Given the description of an element on the screen output the (x, y) to click on. 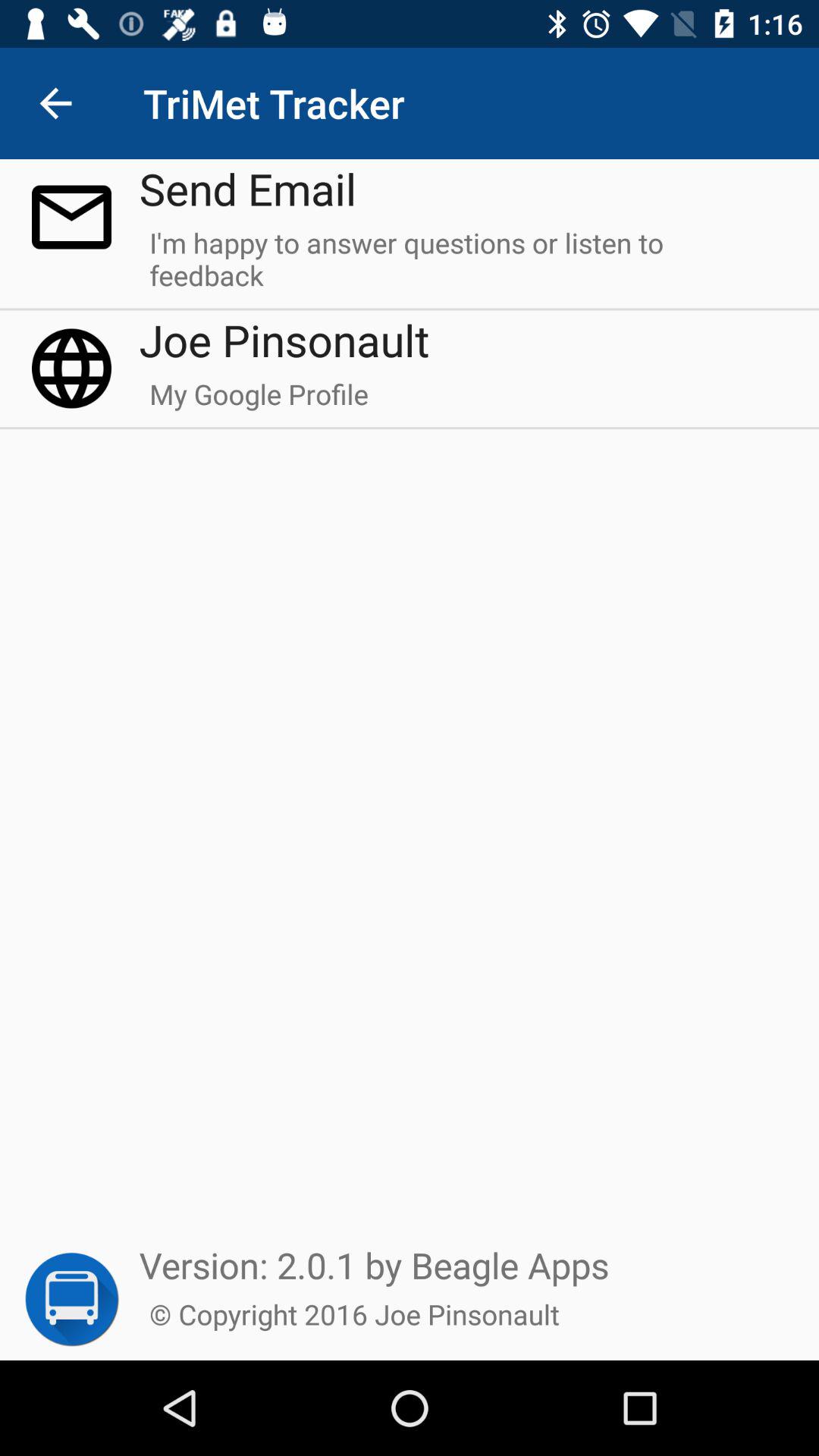
press item next to the send email item (55, 103)
